Given the description of an element on the screen output the (x, y) to click on. 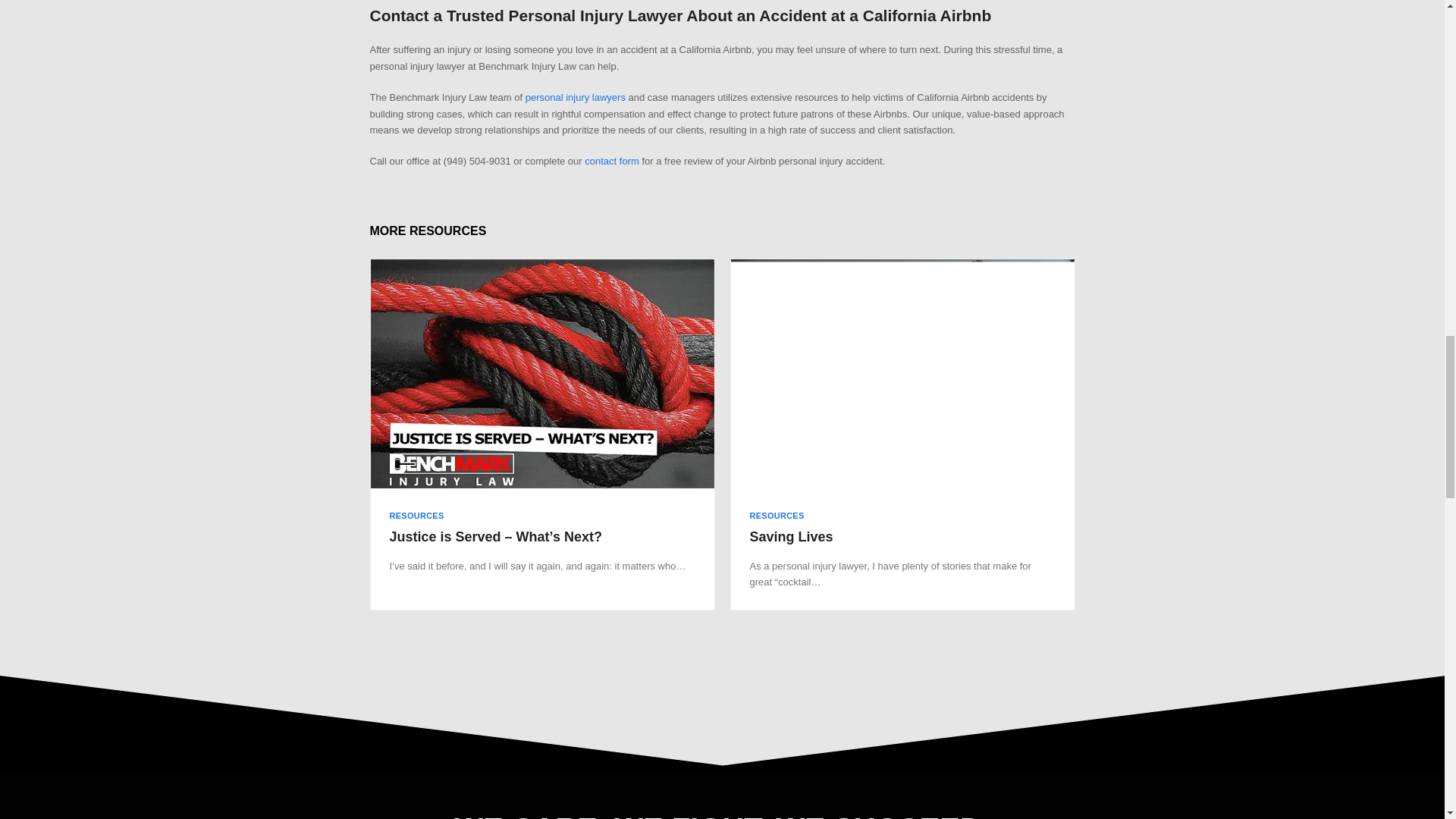
contact form (612, 161)
Saving Lives (790, 536)
personal injury lawyers (575, 97)
